Given the description of an element on the screen output the (x, y) to click on. 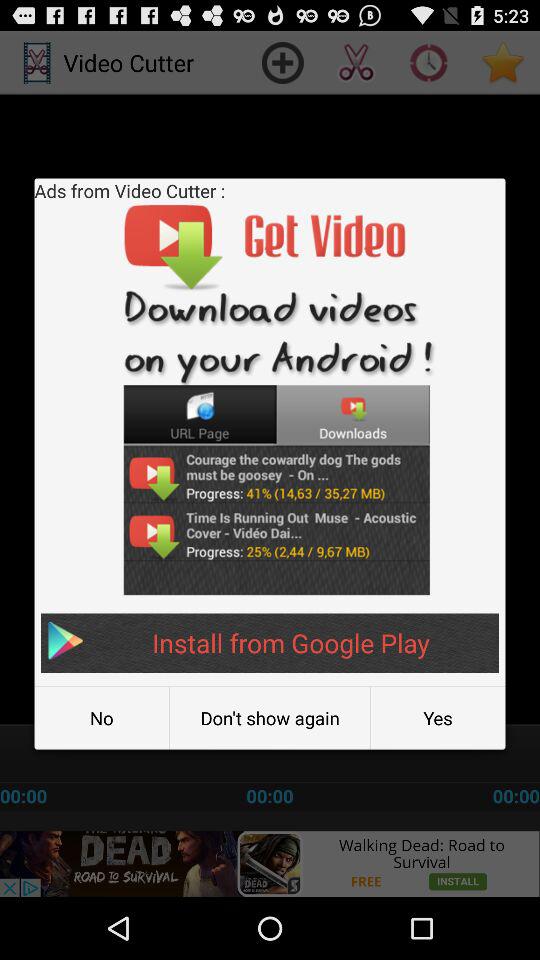
tap the icon to the left of the don t show item (101, 717)
